Given the description of an element on the screen output the (x, y) to click on. 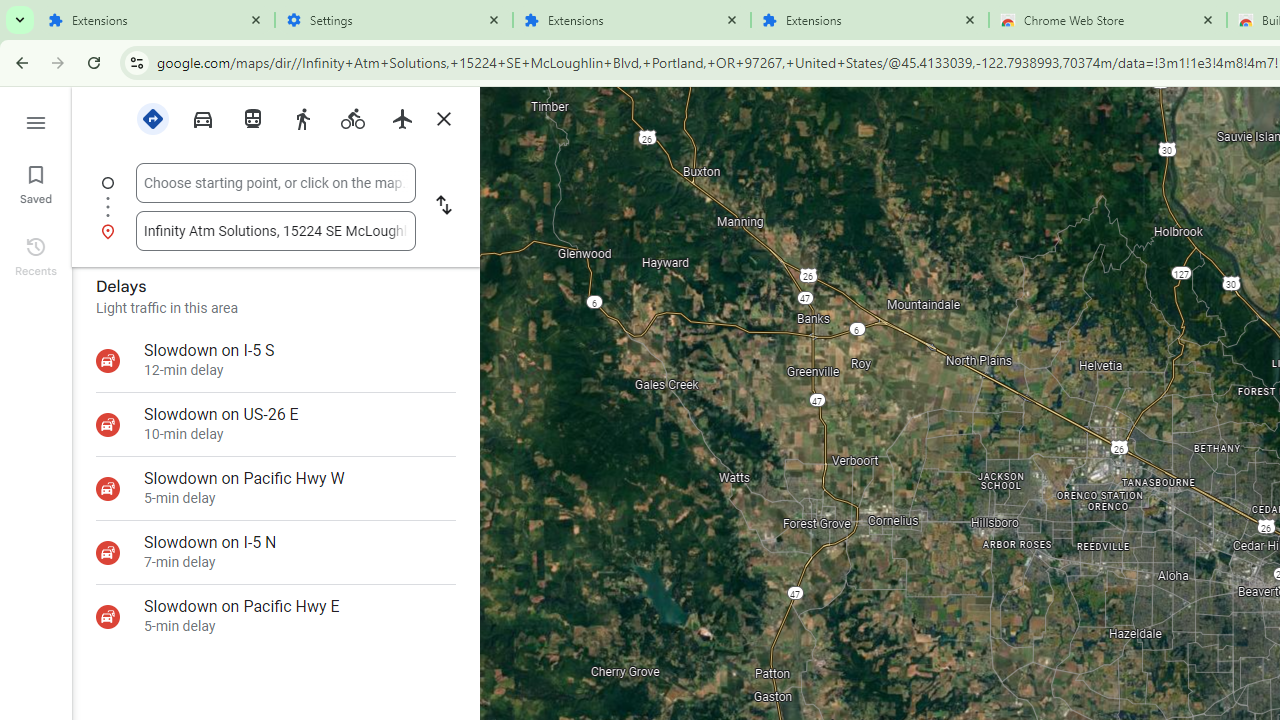
Extensions (870, 20)
Saved (35, 182)
Recents (35, 254)
Transit (252, 119)
Chrome Web Store (1108, 20)
